Given the description of an element on the screen output the (x, y) to click on. 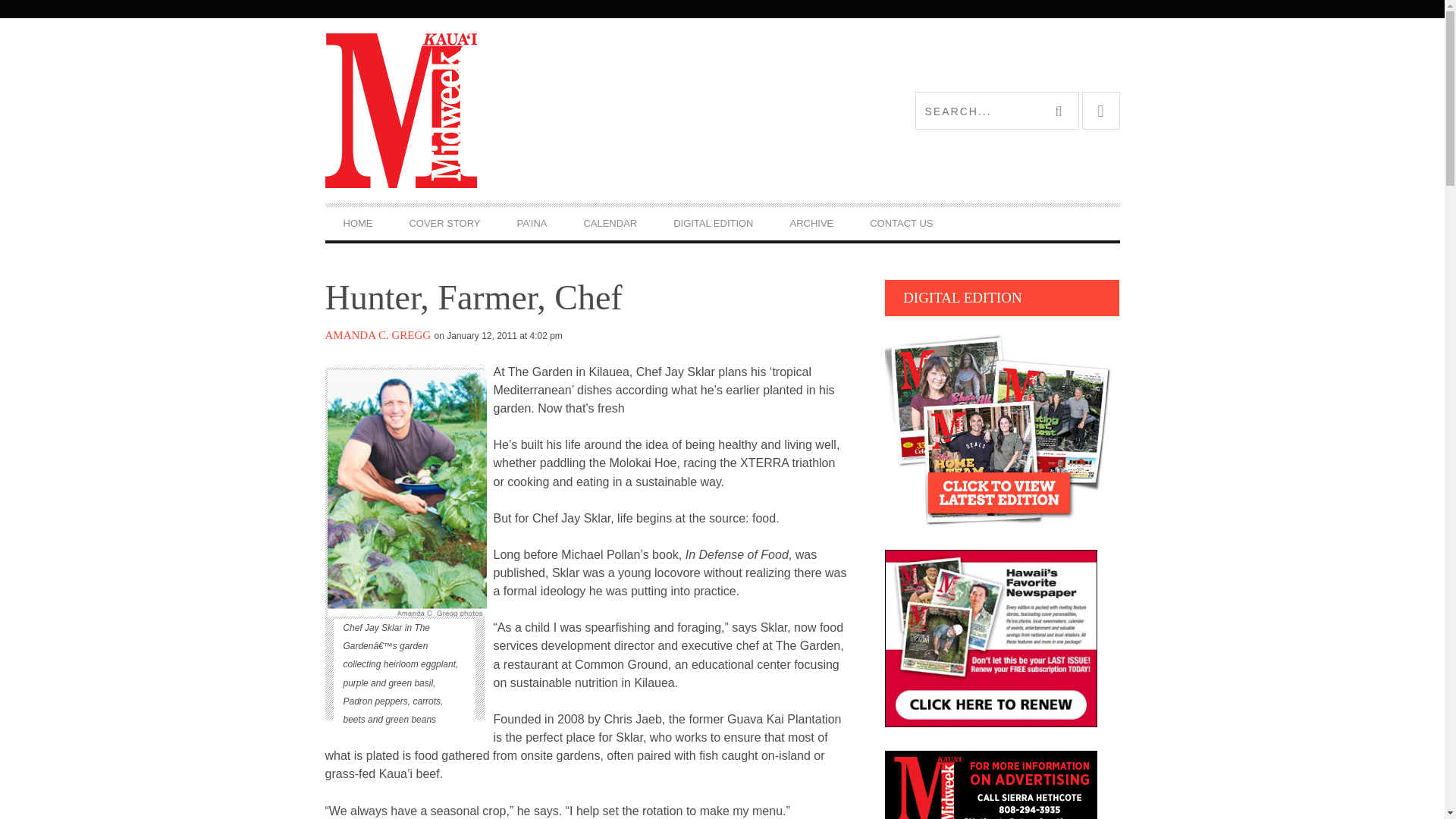
HOME (357, 223)
COVER STORY (443, 223)
ARCHIVE (811, 223)
AMANDA C. GREGG (377, 335)
DIGITAL EDITION (713, 223)
Posts by Amanda C. Gregg (377, 335)
CONTACT US (900, 223)
MidWeek Kaua'i (523, 110)
CALENDAR (609, 223)
